Given the description of an element on the screen output the (x, y) to click on. 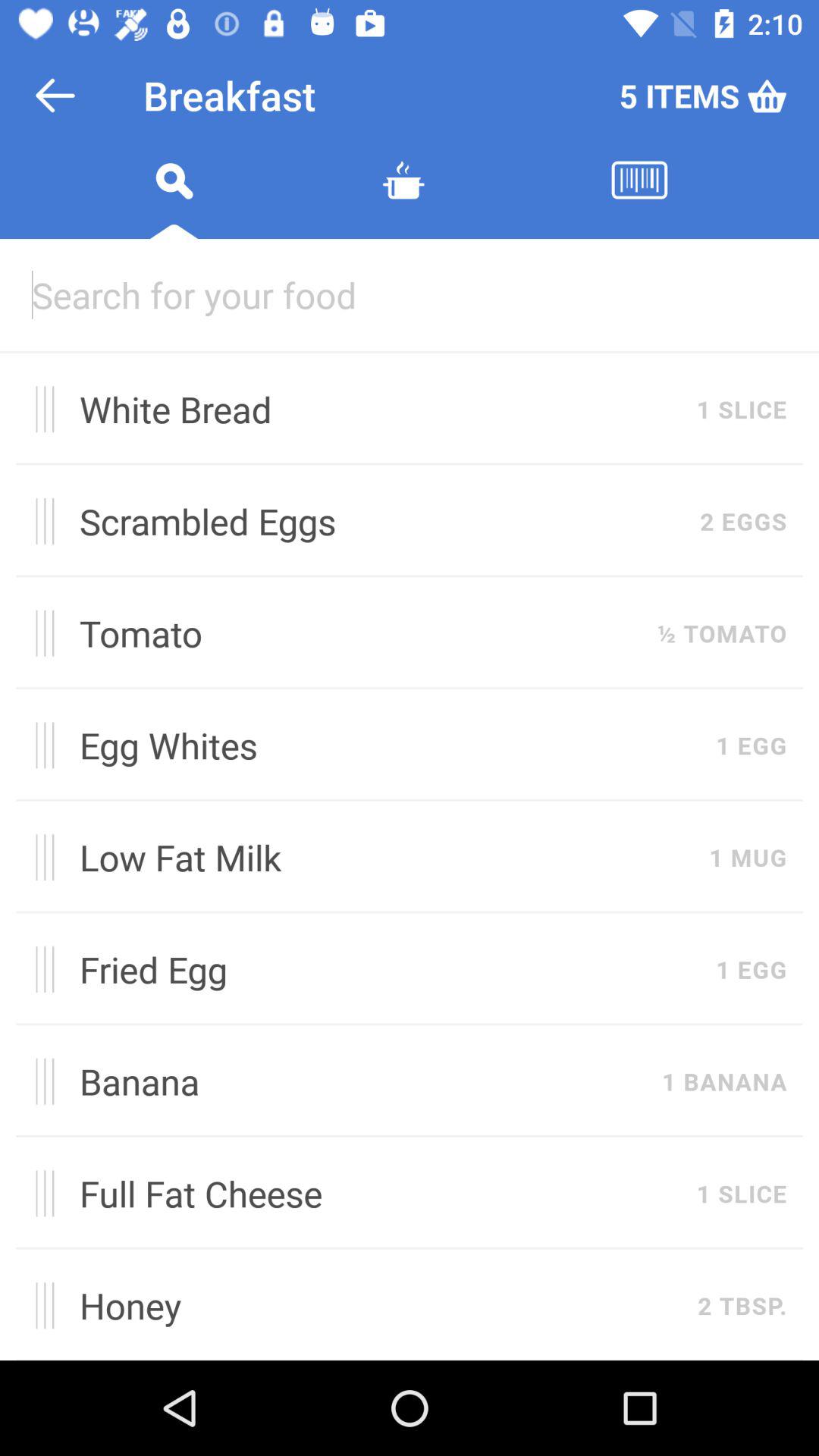
jump until honey item (380, 1305)
